Given the description of an element on the screen output the (x, y) to click on. 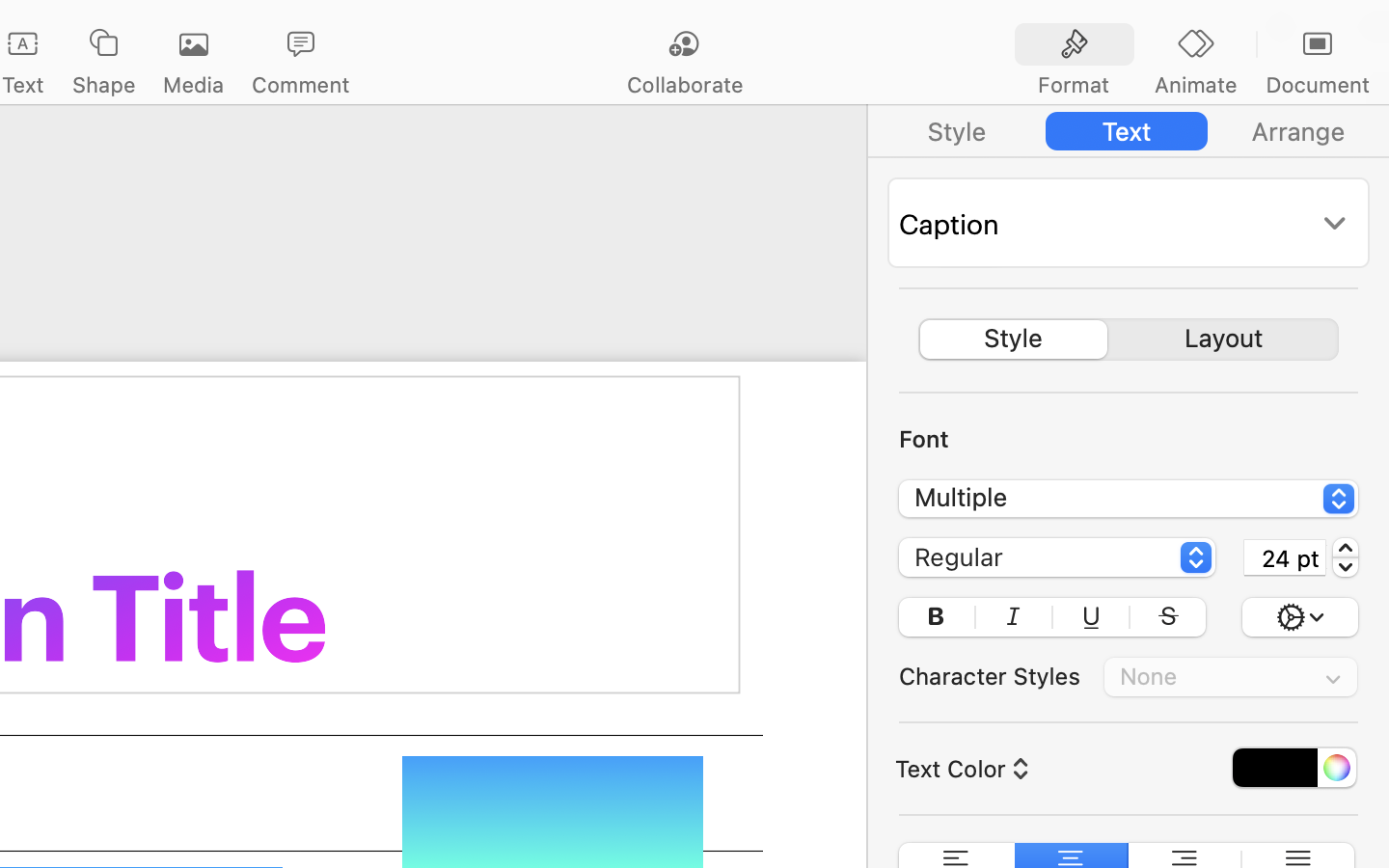
Character Styles Element type: AXStaticText (989, 675)
<AXUIElement 0x1740fffa0> {pid=1697} Element type: AXGroup (1195, 45)
<AXUIElement 0x14574ddc0> {pid=1697} Element type: AXRadioGroup (1128, 131)
Animate Element type: AXStaticText (1194, 84)
